Given the description of an element on the screen output the (x, y) to click on. 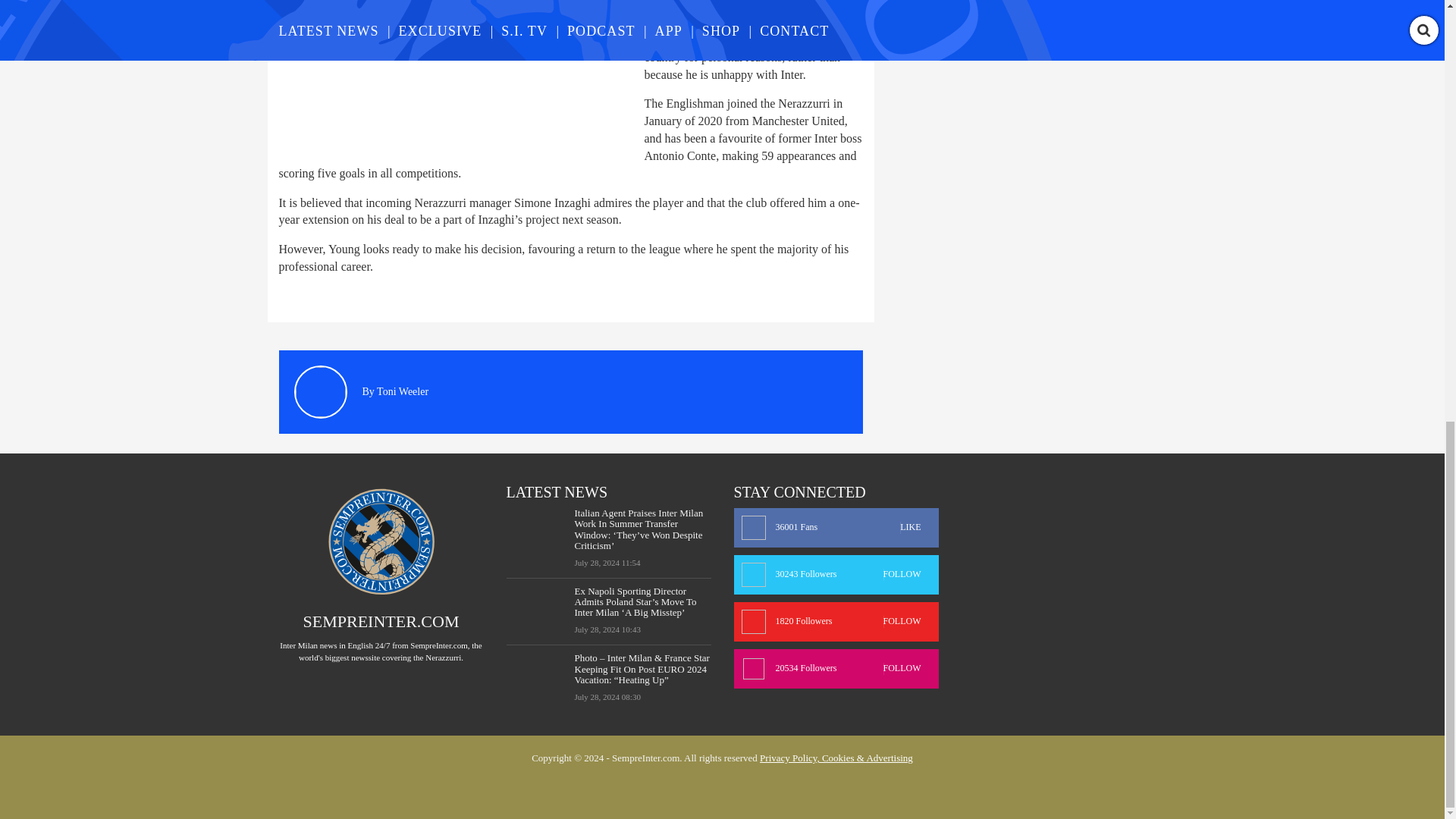
View more articles by Toni Weeler (402, 391)
SEMPREINTER.COM (381, 620)
Toni Weeler (836, 574)
